Given the description of an element on the screen output the (x, y) to click on. 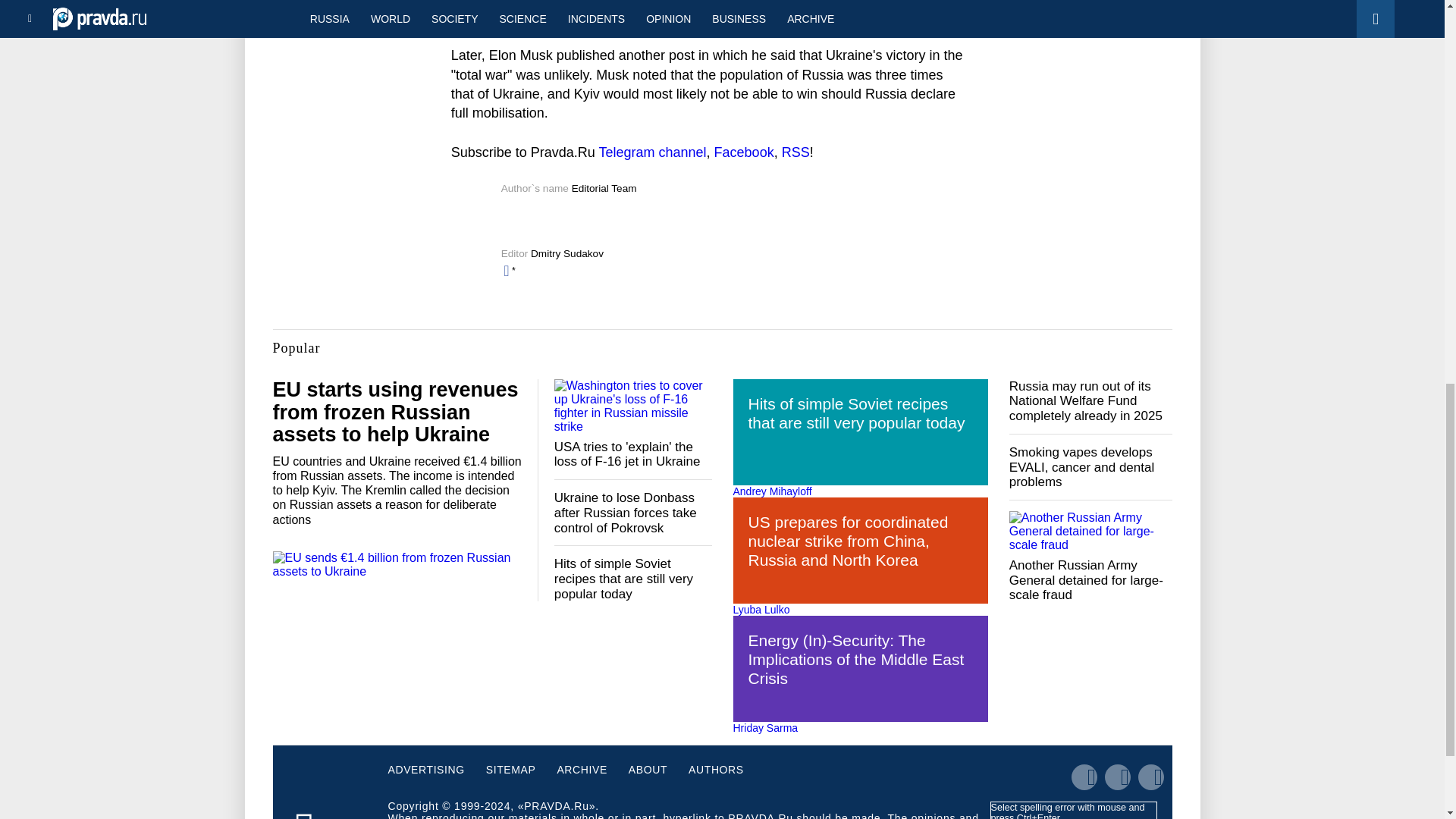
Back to top (1418, 79)
Kremlin: Listen to Trump, he's right about WWIII (335, 11)
RSS (795, 151)
Telegram channel (652, 151)
Facebook (744, 151)
